Given the description of an element on the screen output the (x, y) to click on. 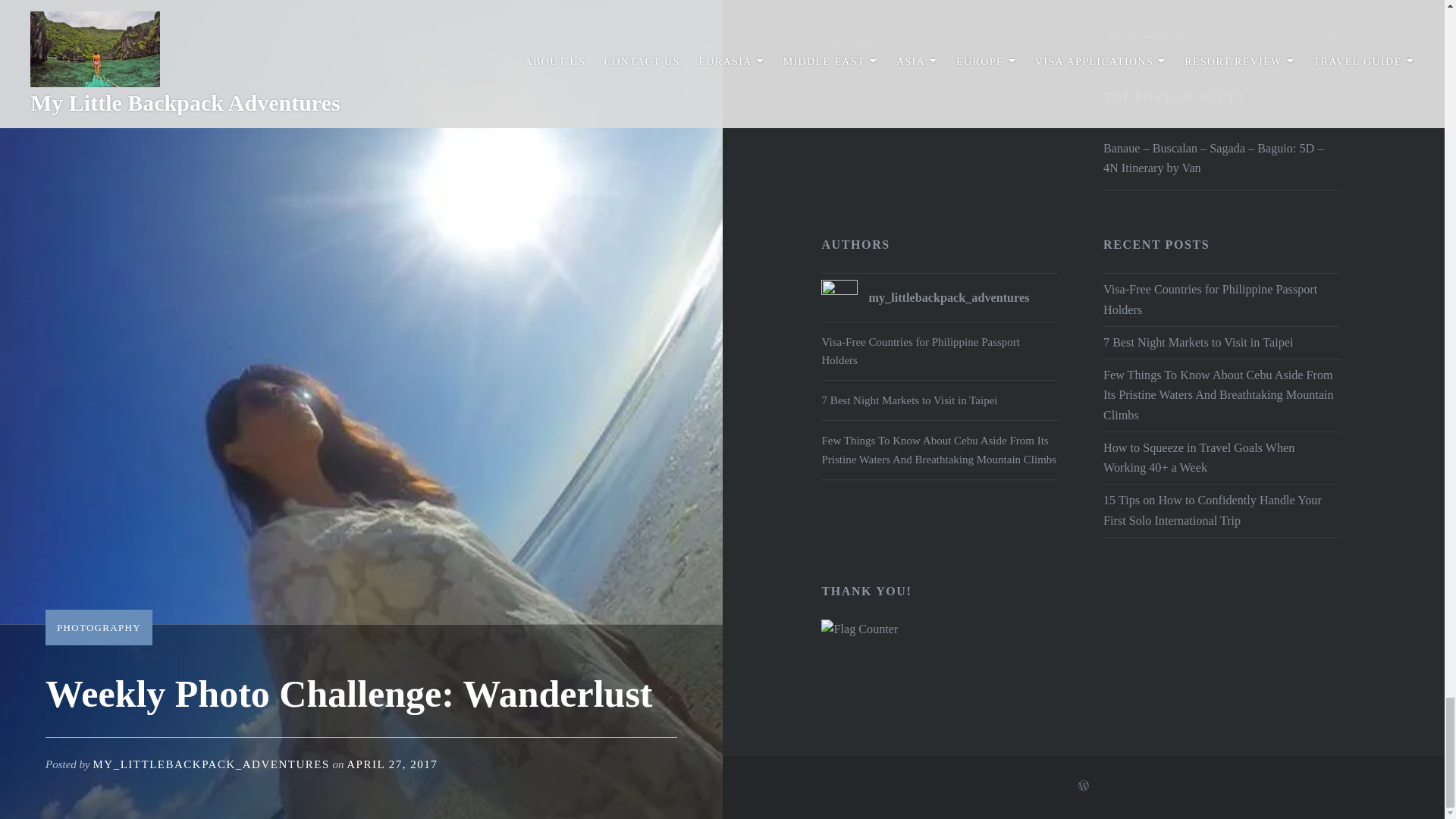
Create a website or blog at WordPress.com (1083, 786)
Create a website or blog at WordPress.com (1083, 785)
